Given the description of an element on the screen output the (x, y) to click on. 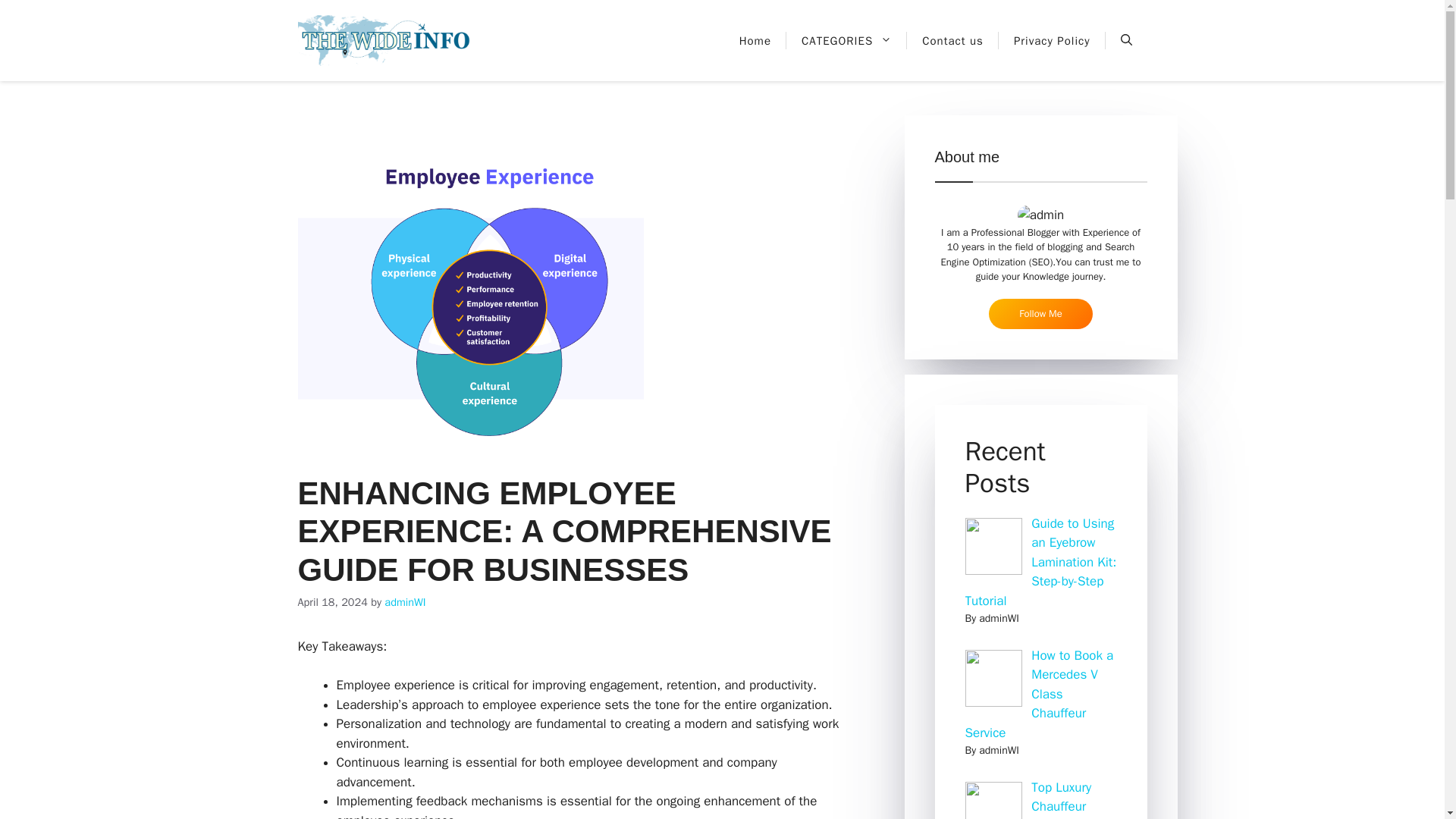
Privacy Policy (1051, 40)
CATEGORIES (846, 40)
Contact us (952, 40)
Home (754, 40)
Follow Me (1040, 313)
View all posts by adminWI (404, 602)
How to Book a Mercedes V Class Chauffeur Service (1038, 694)
adminWI (404, 602)
